Given the description of an element on the screen output the (x, y) to click on. 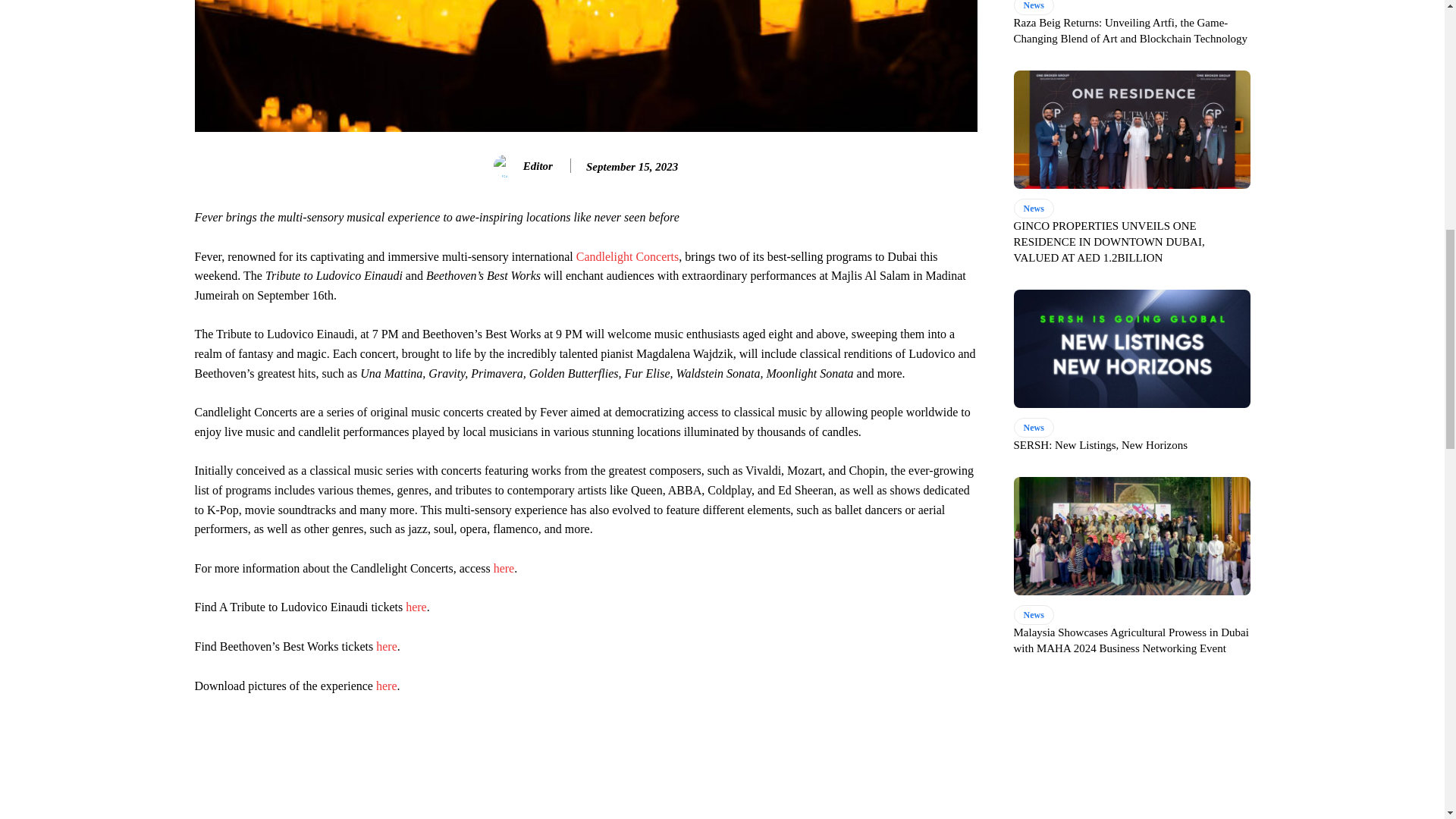
Screenshot 2023-09-12 at 10.30.49 AM copy (584, 65)
Editor (507, 165)
